Given the description of an element on the screen output the (x, y) to click on. 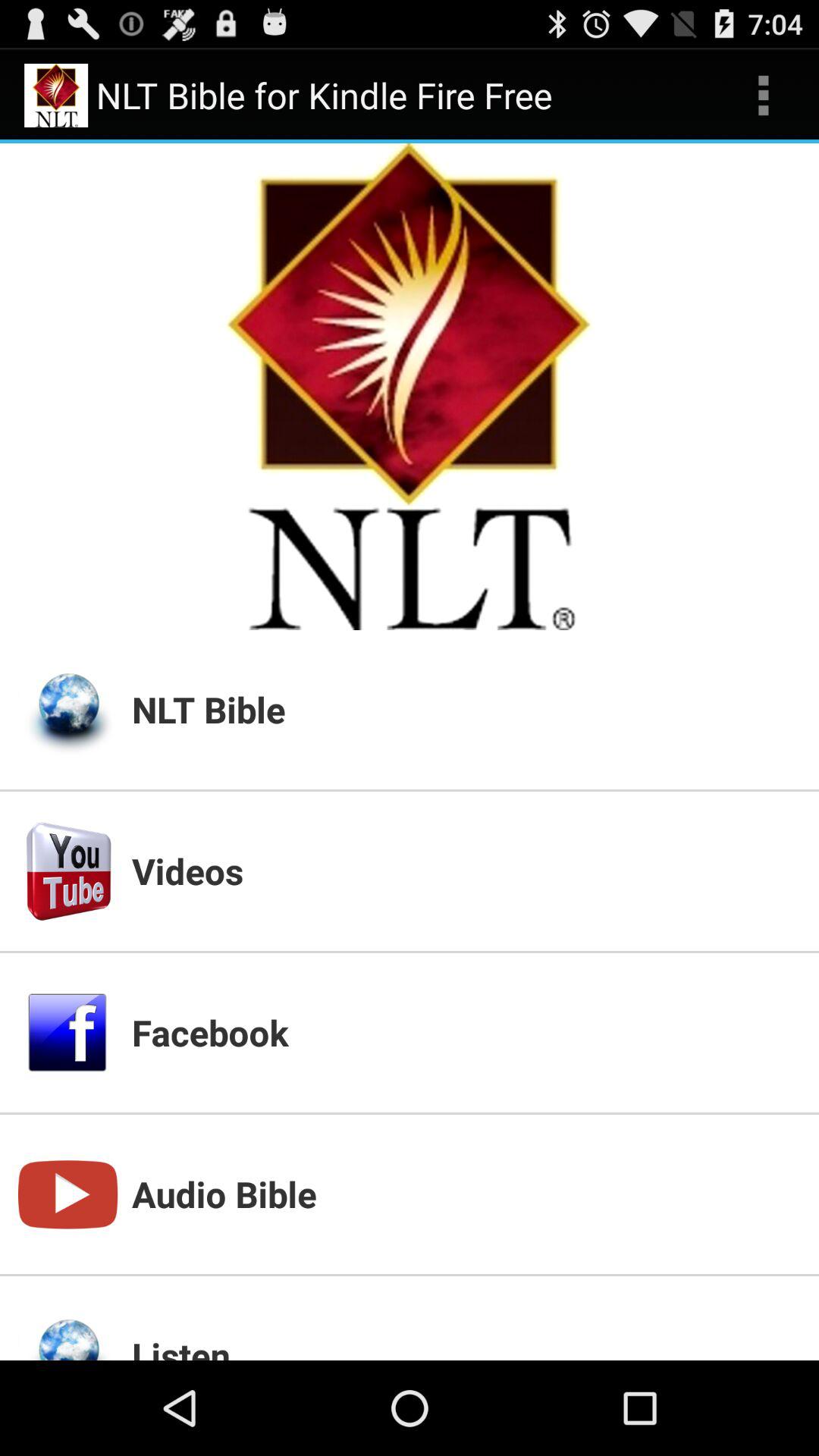
click icon above the nlt bible app (763, 95)
